Given the description of an element on the screen output the (x, y) to click on. 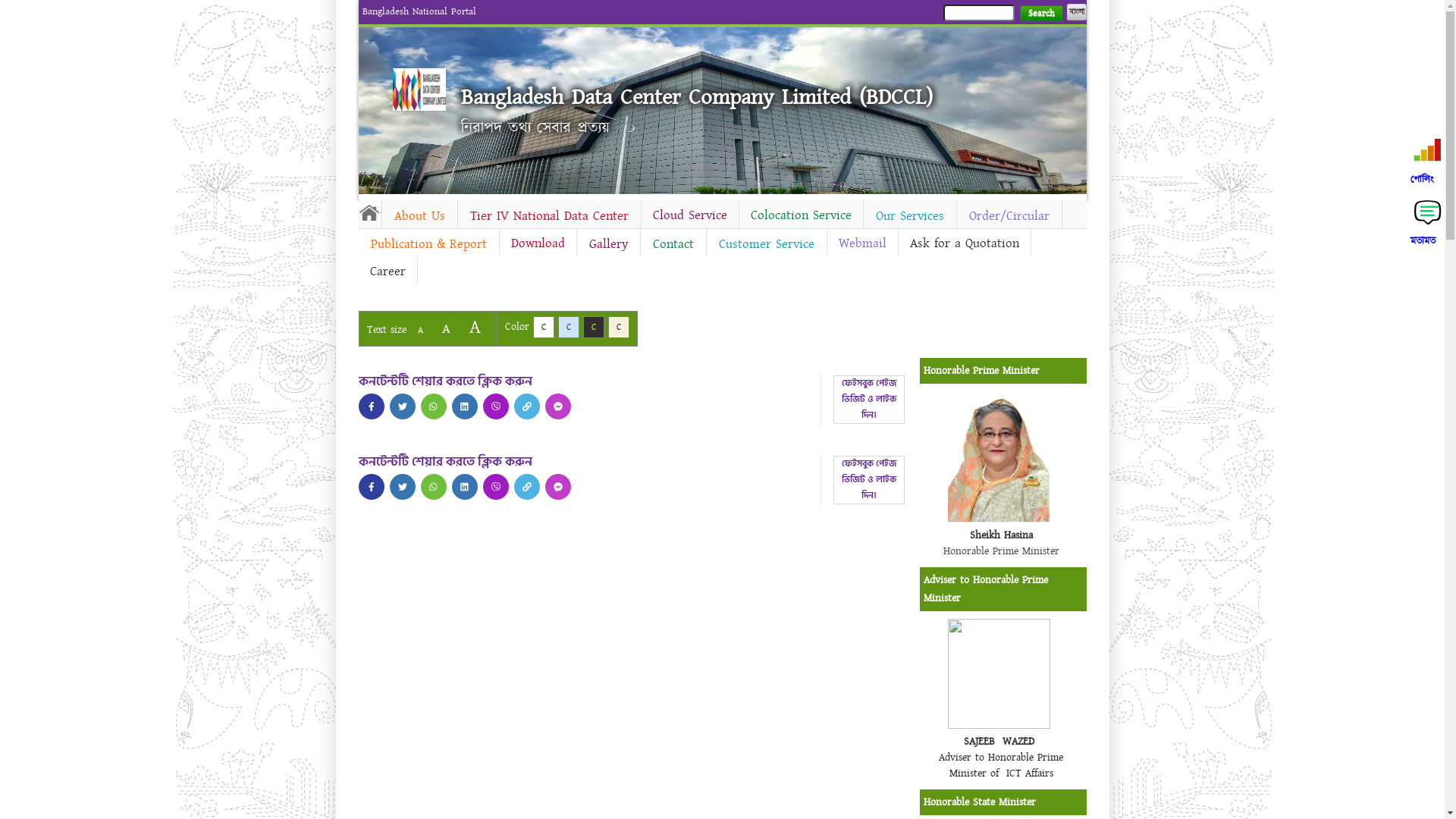
Customer Service Element type: text (766, 244)
Webmail Element type: text (861, 243)
Download Element type: text (536, 243)
A Element type: text (474, 327)
Tier IV National Data Center Element type: text (549, 216)
Career Element type: text (386, 271)
Order/Circular Element type: text (1009, 216)
Bangladesh National Portal Element type: text (419, 11)
Ask for a Quotation Element type: text (963, 243)
Cloud Service Element type: text (689, 215)
About Us Element type: text (419, 216)
Bangladesh Data Center Company Limited (BDCCL) Element type: text (696, 96)
Our Services Element type: text (908, 216)
C Element type: text (618, 327)
Contact Element type: text (672, 244)
Search Element type: text (1040, 13)
A Element type: text (445, 328)
Home Element type: hover (418, 89)
Home Element type: hover (368, 211)
Gallery Element type: text (607, 244)
C Element type: text (568, 327)
A Element type: text (419, 330)
Colocation Service Element type: text (800, 215)
C Element type: text (542, 327)
Publication & Report Element type: text (427, 244)
C Element type: text (592, 327)
